Given the description of an element on the screen output the (x, y) to click on. 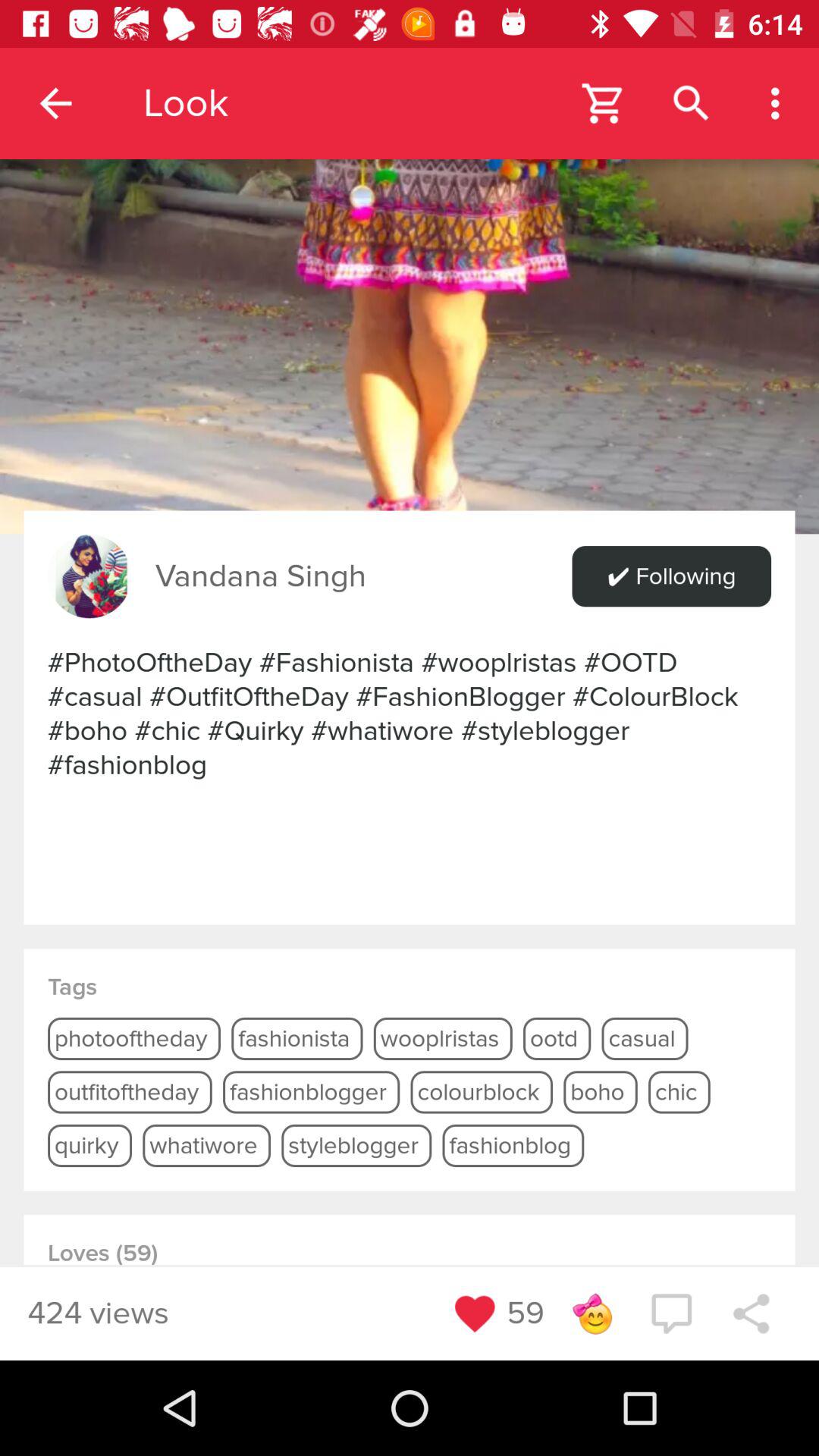
open profile (409, 267)
